Given the description of an element on the screen output the (x, y) to click on. 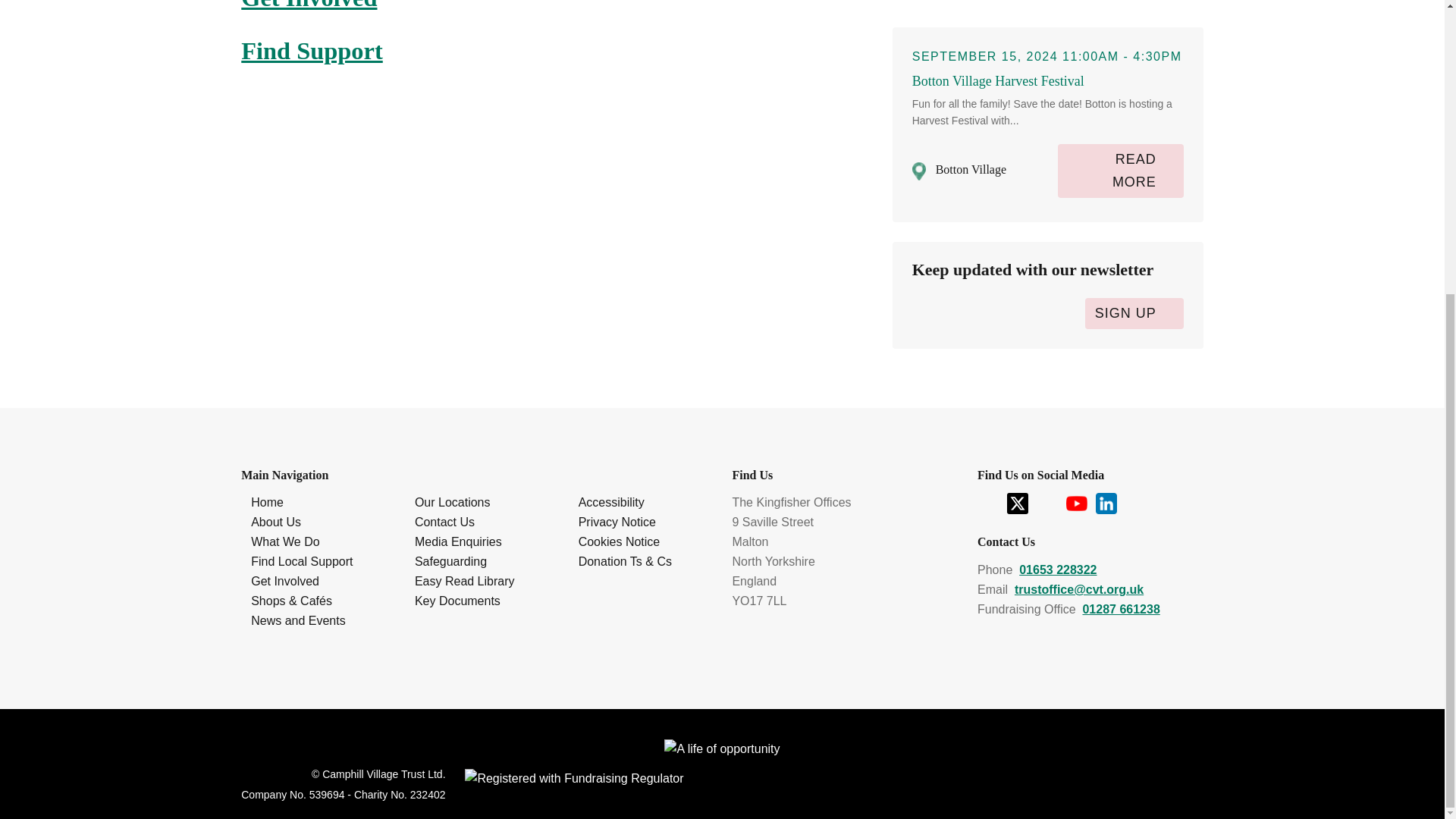
Visit CVT on LinkedIn (1106, 502)
Visit CVT on YouTube (1077, 502)
Visit CVT on Twitter (1018, 502)
Visit CVT on Facebook (988, 502)
Visit CVT on Instagram (1048, 502)
